Given the description of an element on the screen output the (x, y) to click on. 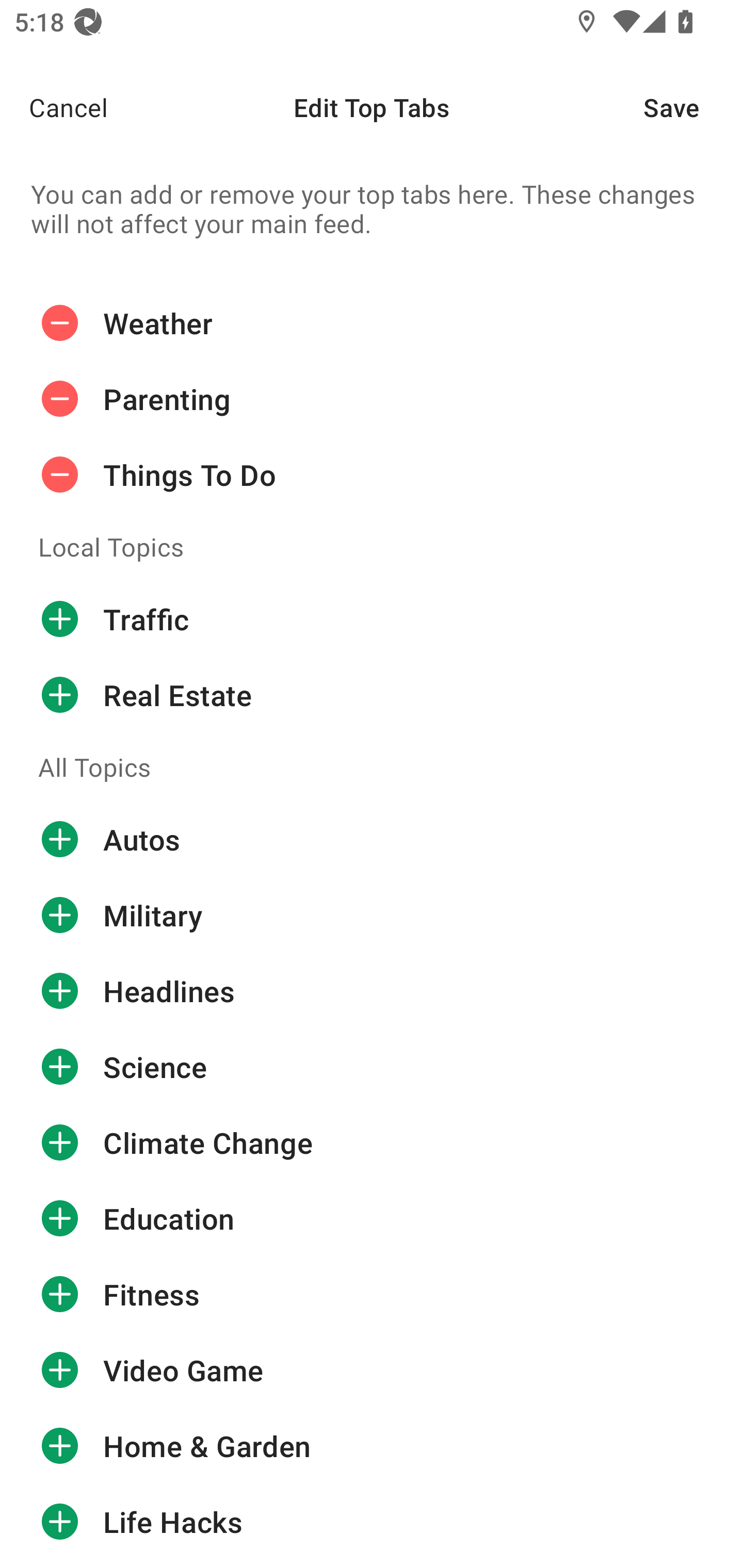
Cancel (53, 106)
Save (693, 106)
Weather (371, 327)
Parenting (371, 398)
Things To Do (371, 474)
Traffic (371, 618)
Real Estate (371, 694)
Autos (371, 839)
Military (371, 915)
Headlines (371, 990)
Science (371, 1066)
Climate Change (371, 1142)
Education (371, 1217)
Fitness (371, 1293)
Video Game (371, 1370)
Home & Garden (371, 1445)
Life Hacks (371, 1521)
